Given the description of an element on the screen output the (x, y) to click on. 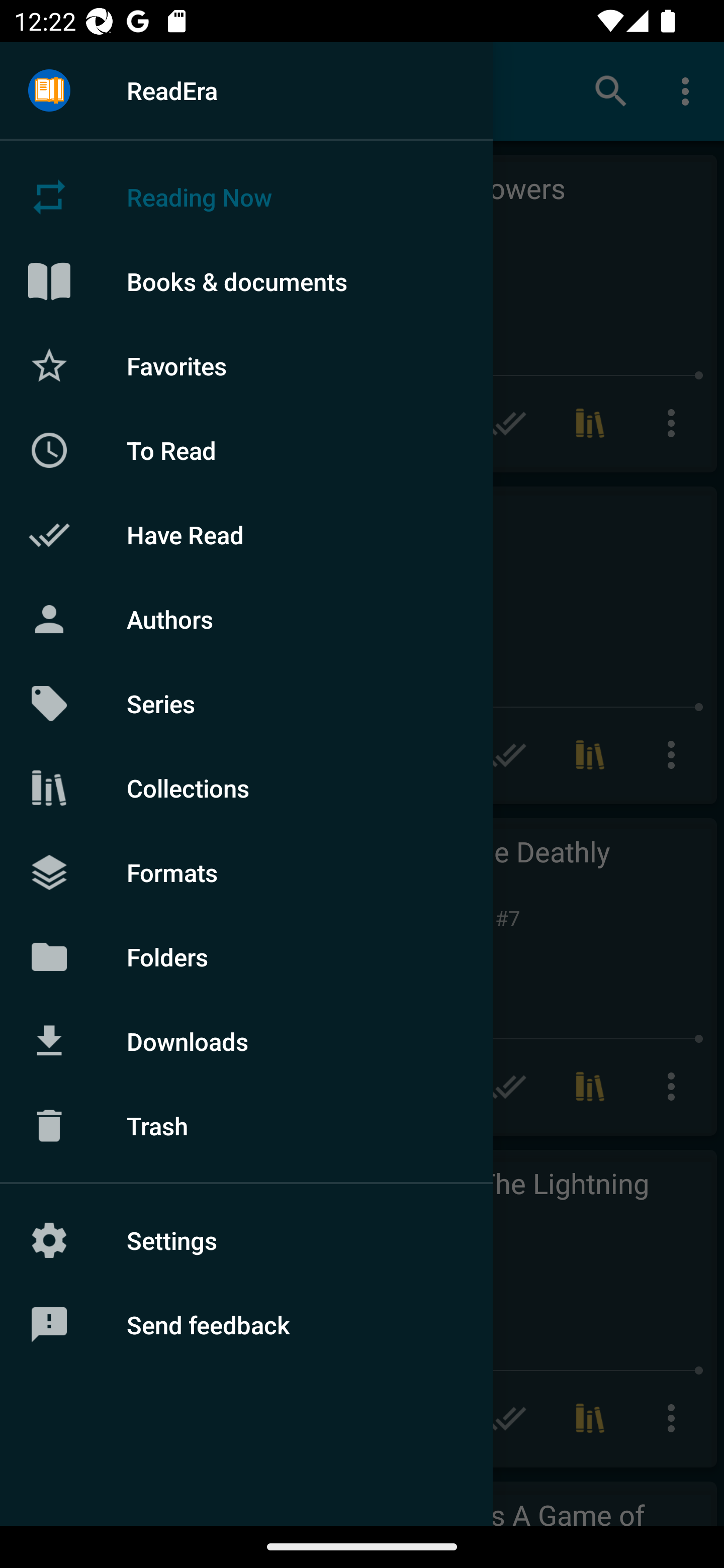
Menu (49, 91)
ReadEra (246, 89)
Search books & documents (611, 90)
More options (688, 90)
Reading Now (246, 197)
Books & documents (246, 281)
Favorites (246, 365)
To Read (246, 449)
Have Read (246, 534)
Authors (246, 619)
Series (246, 703)
Collections (246, 787)
Formats (246, 871)
Folders (246, 956)
Downloads (246, 1040)
Trash (246, 1125)
Settings (246, 1239)
Send feedback (246, 1324)
